Given the description of an element on the screen output the (x, y) to click on. 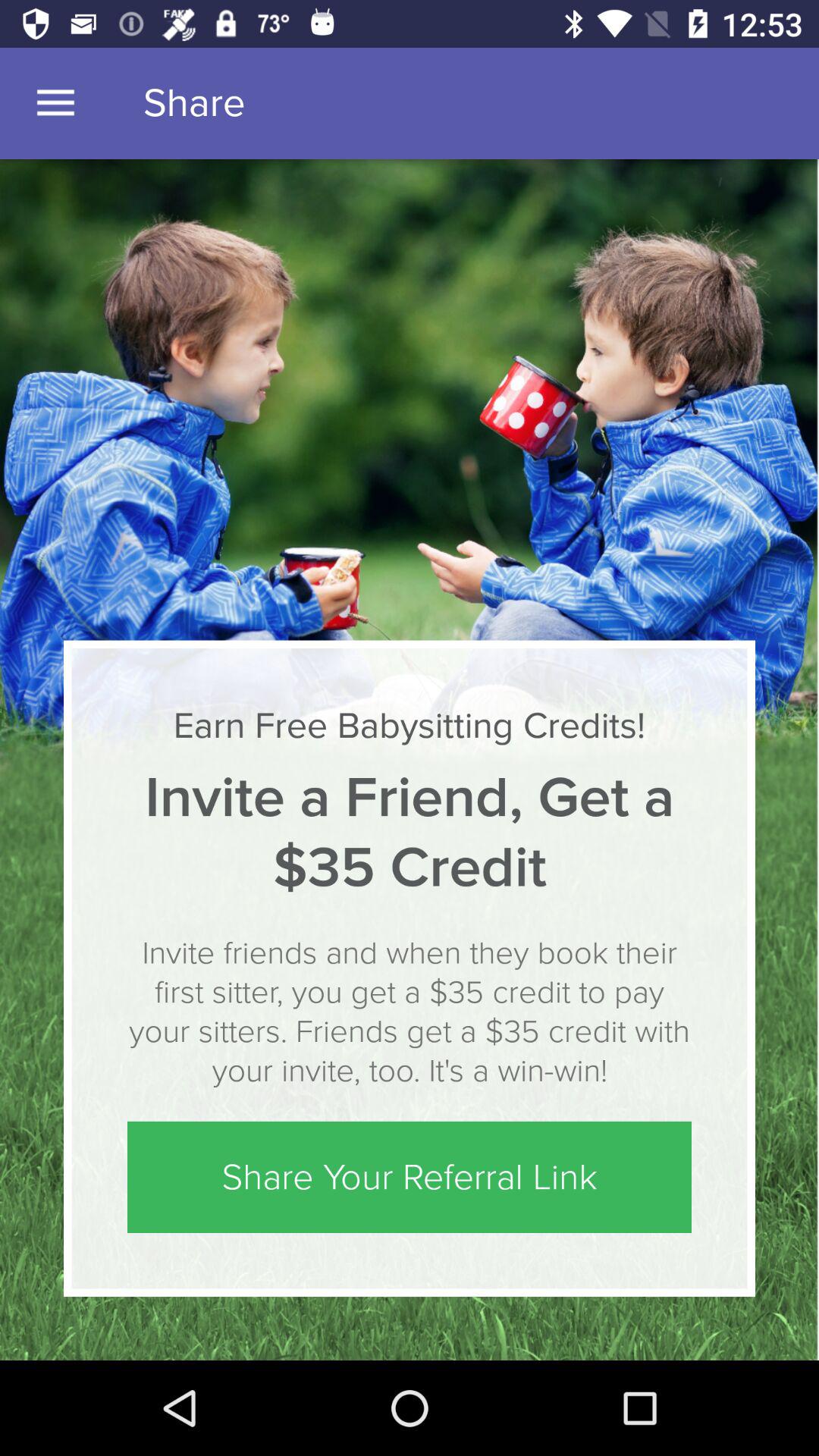
select the share your referral icon (409, 1177)
